Given the description of an element on the screen output the (x, y) to click on. 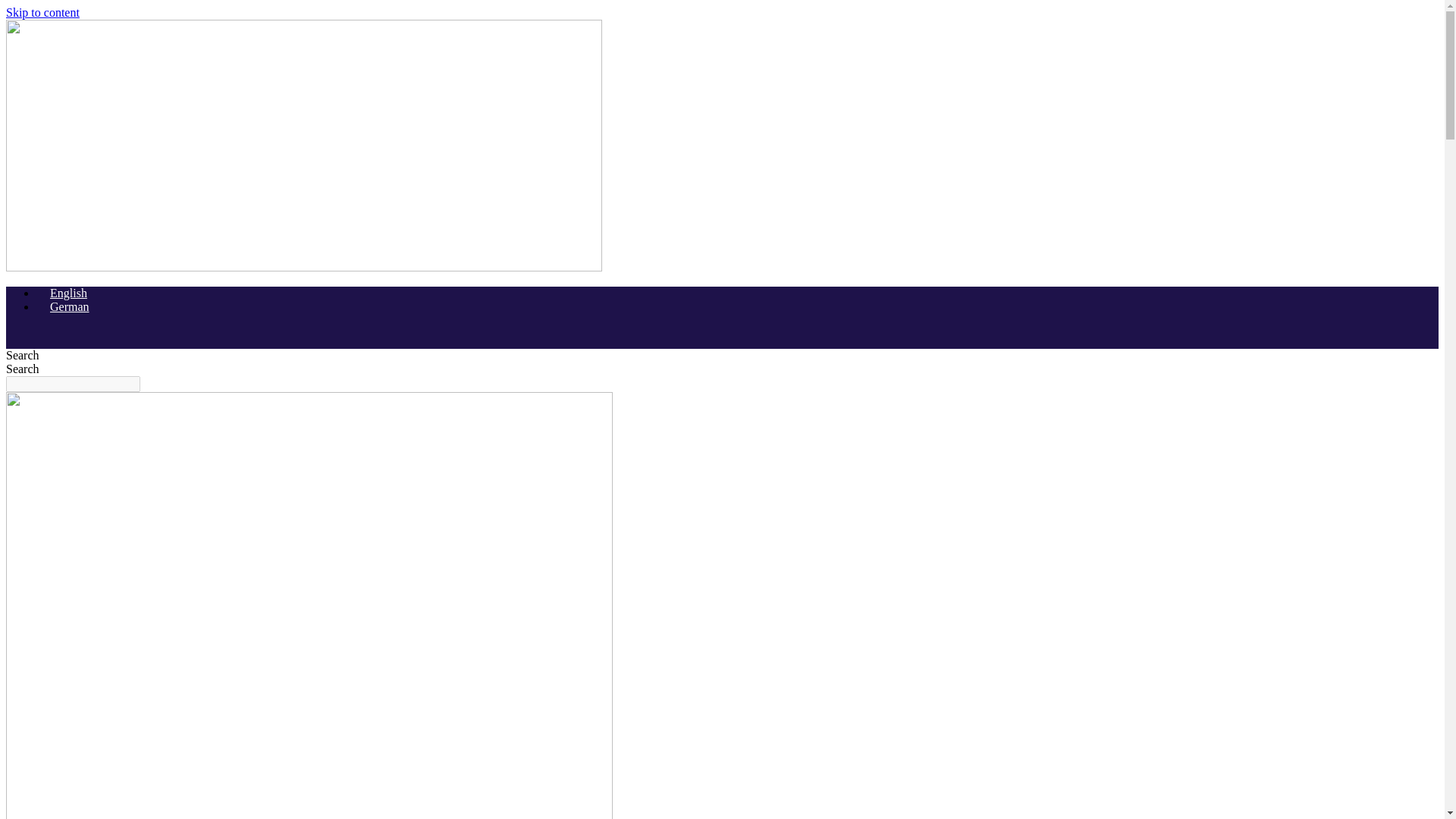
English (61, 292)
German (62, 306)
Skip to content (42, 11)
